Given the description of an element on the screen output the (x, y) to click on. 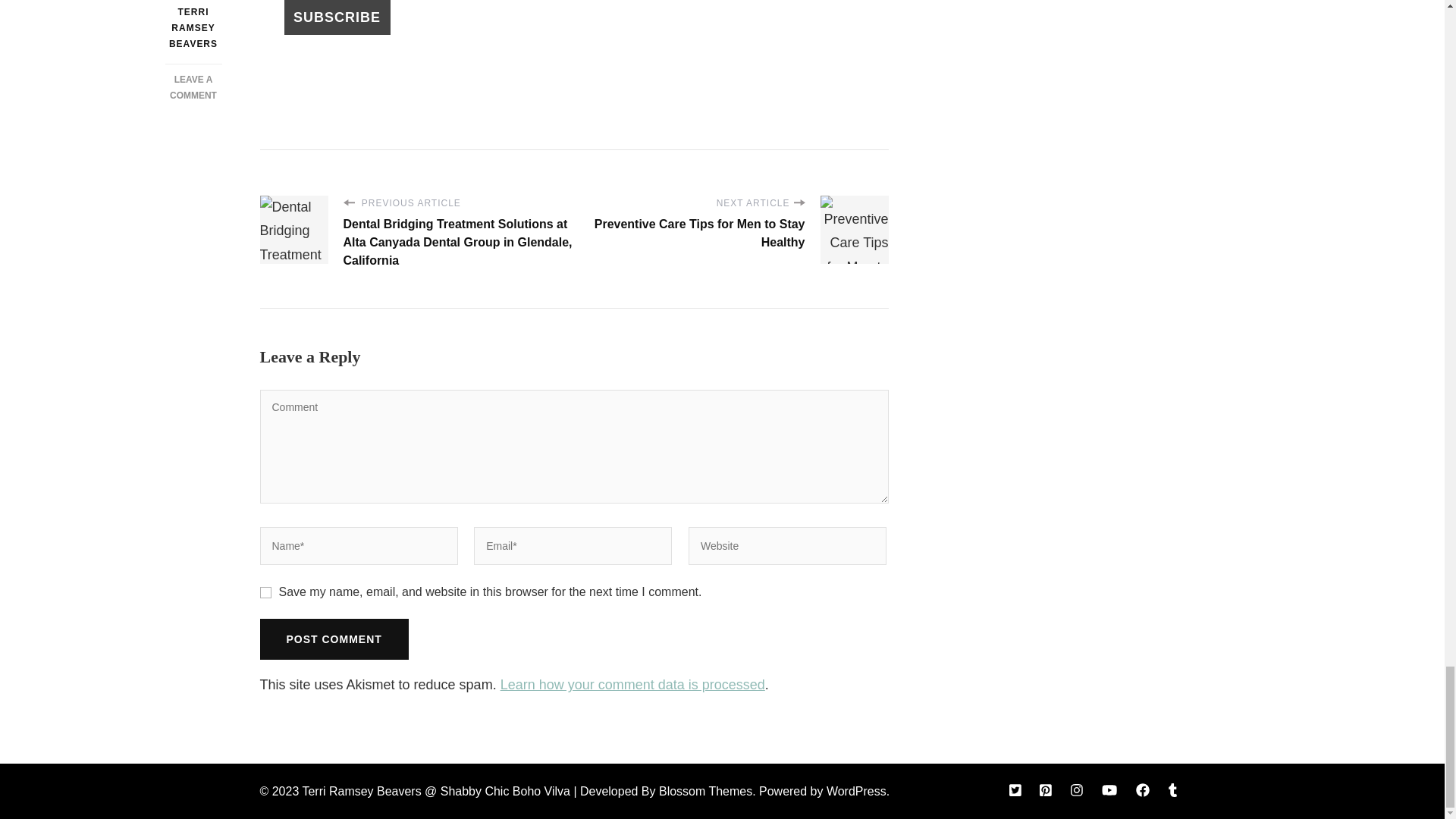
Subscribe (336, 17)
Post Comment (333, 639)
